Given the description of an element on the screen output the (x, y) to click on. 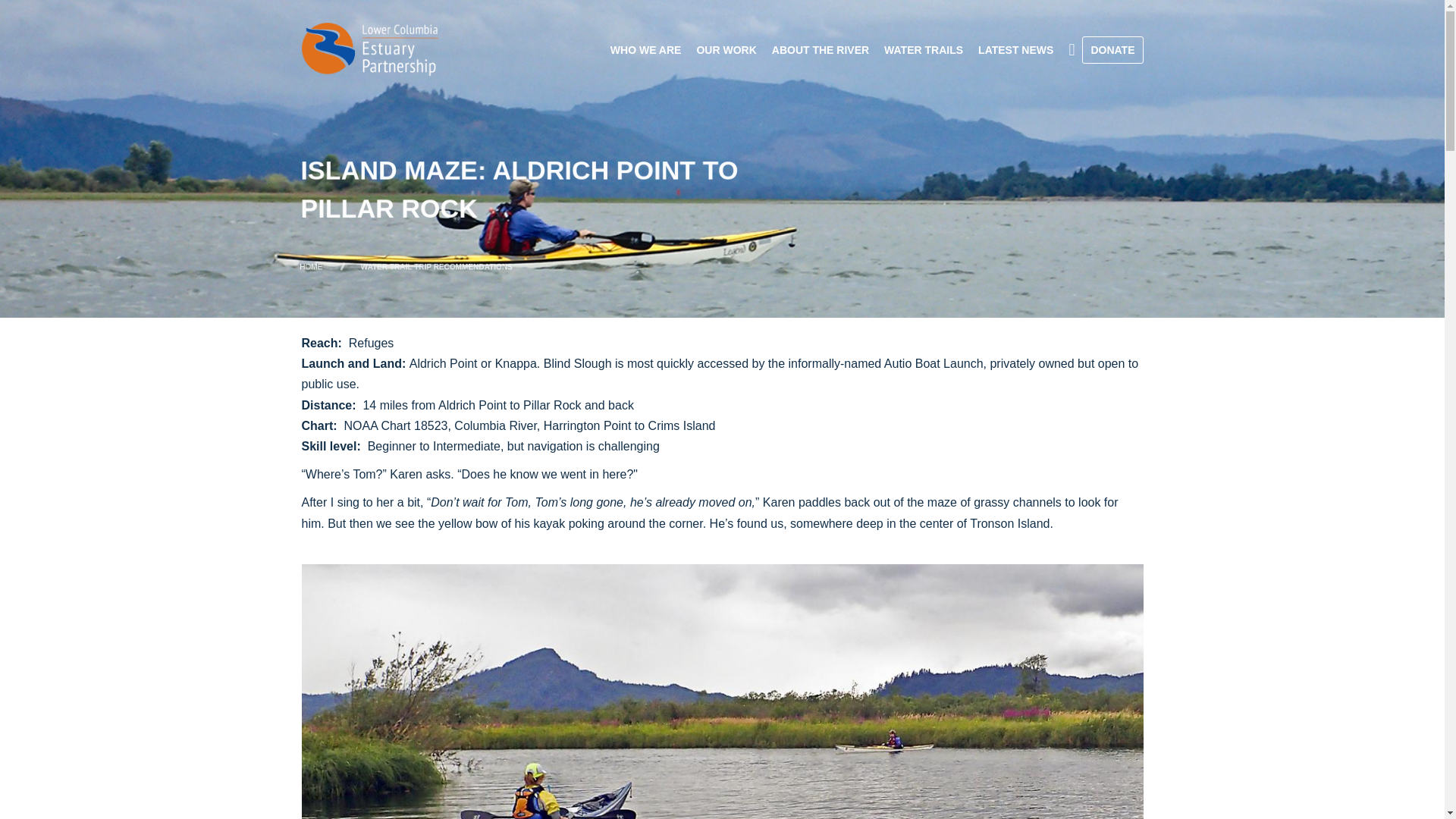
DONATE (1111, 49)
WATER TRAIL TRIP RECOMMENDATIONS (404, 265)
OUR WORK (725, 49)
WATER TRAILS (923, 49)
LATEST NEWS (1016, 49)
WHO WE ARE (645, 49)
HOME (282, 265)
ABOUT THE RIVER (820, 49)
